Given the description of an element on the screen output the (x, y) to click on. 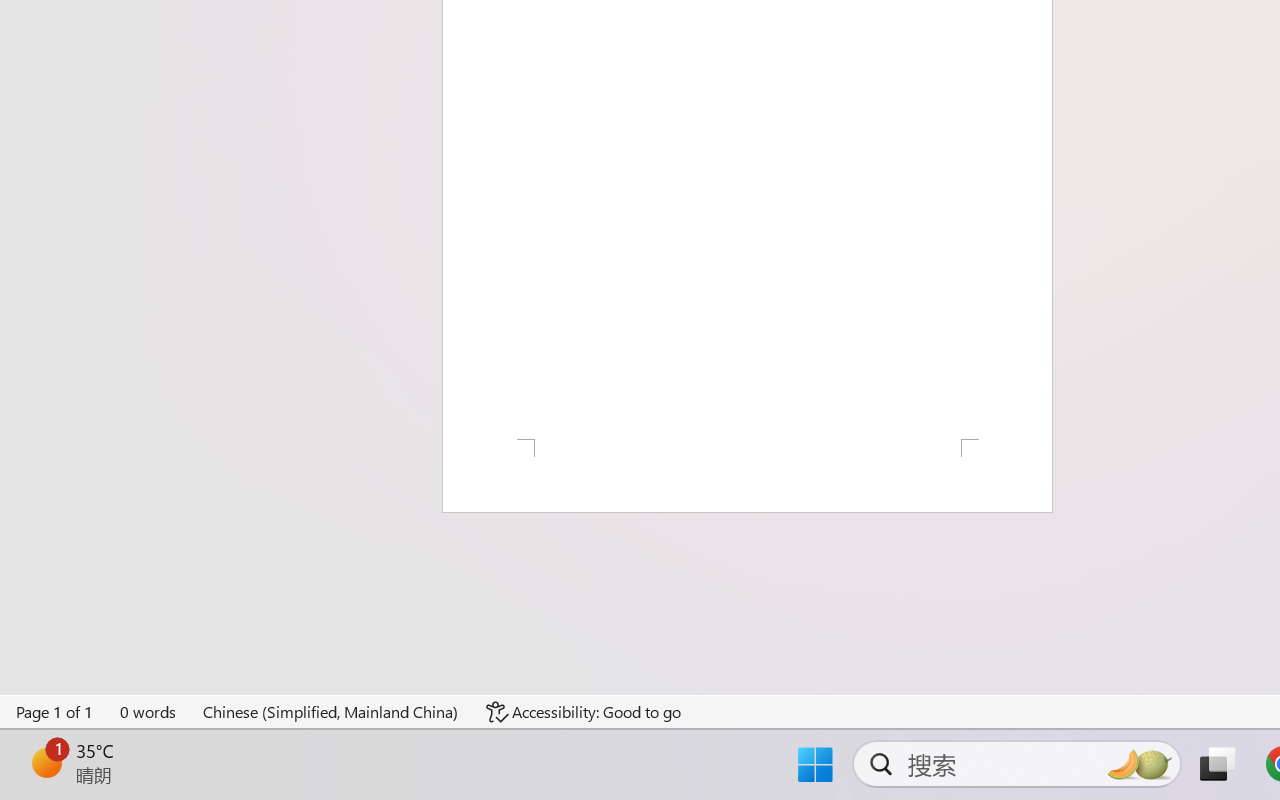
Language Chinese (Simplified, Mainland China) (331, 712)
